Given the description of an element on the screen output the (x, y) to click on. 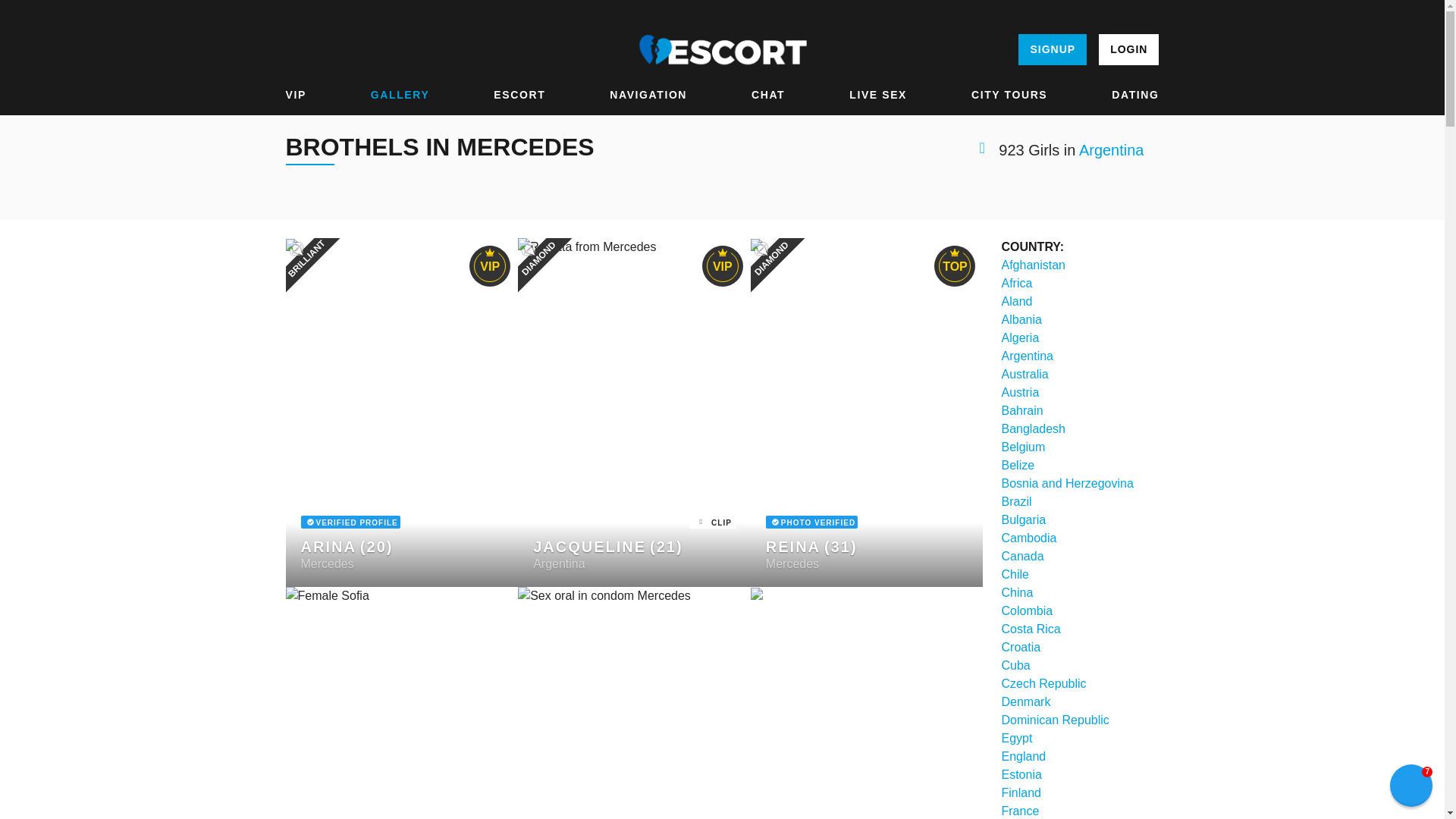
GALLERY (400, 94)
DATING (1135, 94)
CITY TOURS (1008, 94)
SIGNUP (1051, 49)
NAVIGATION (648, 94)
LOGIN (1128, 49)
CHAT (767, 94)
LIVE SEX (877, 94)
VIP (295, 94)
ESCORT (518, 94)
